Given the description of an element on the screen output the (x, y) to click on. 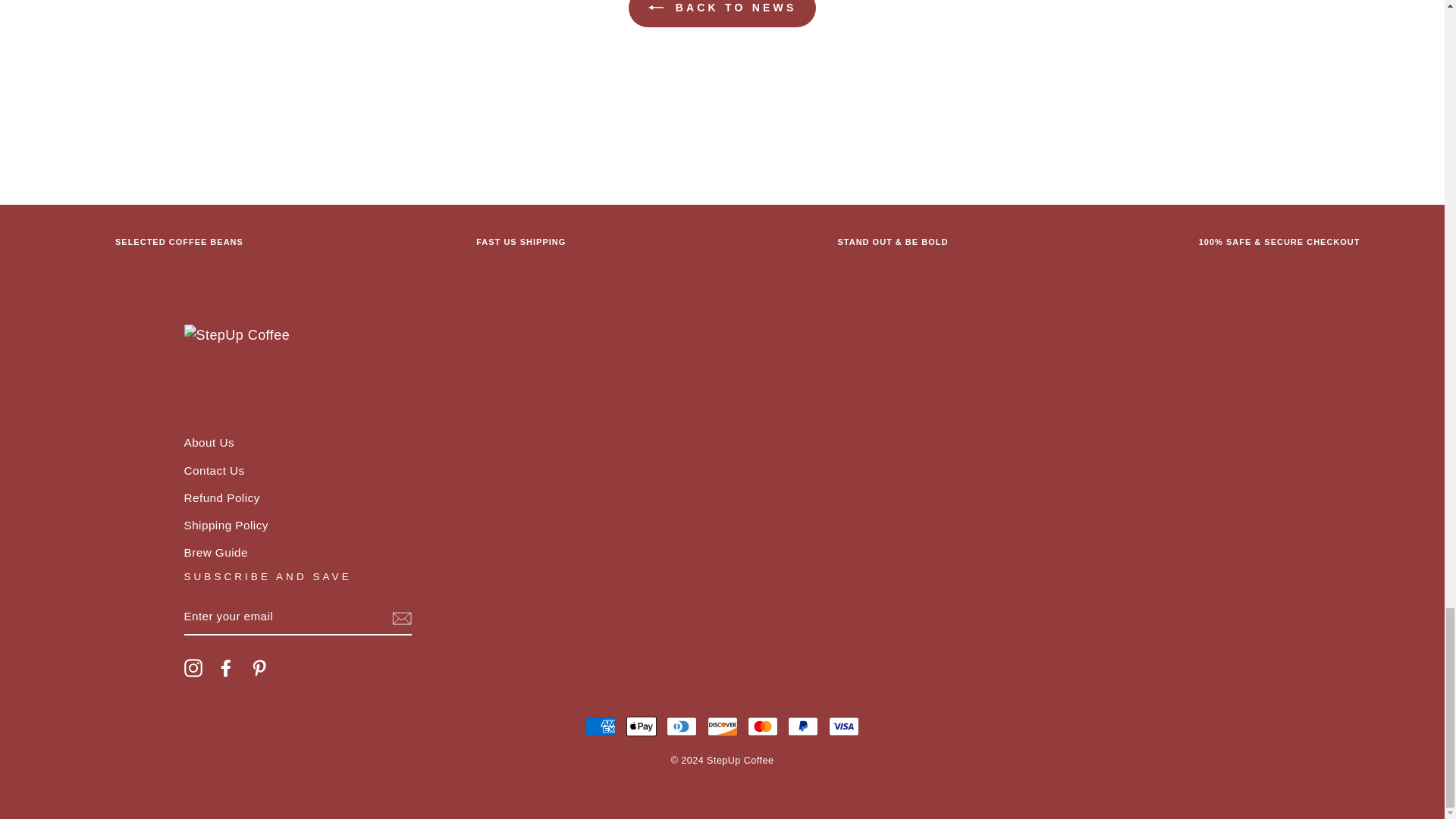
StepUp Coffee on Pinterest (258, 667)
Mastercard (762, 726)
Apple Pay (641, 726)
StepUp Coffee on Facebook (225, 667)
Discover (721, 726)
StepUp Coffee on Instagram (192, 667)
Diners Club (681, 726)
American Express (600, 726)
